Given the description of an element on the screen output the (x, y) to click on. 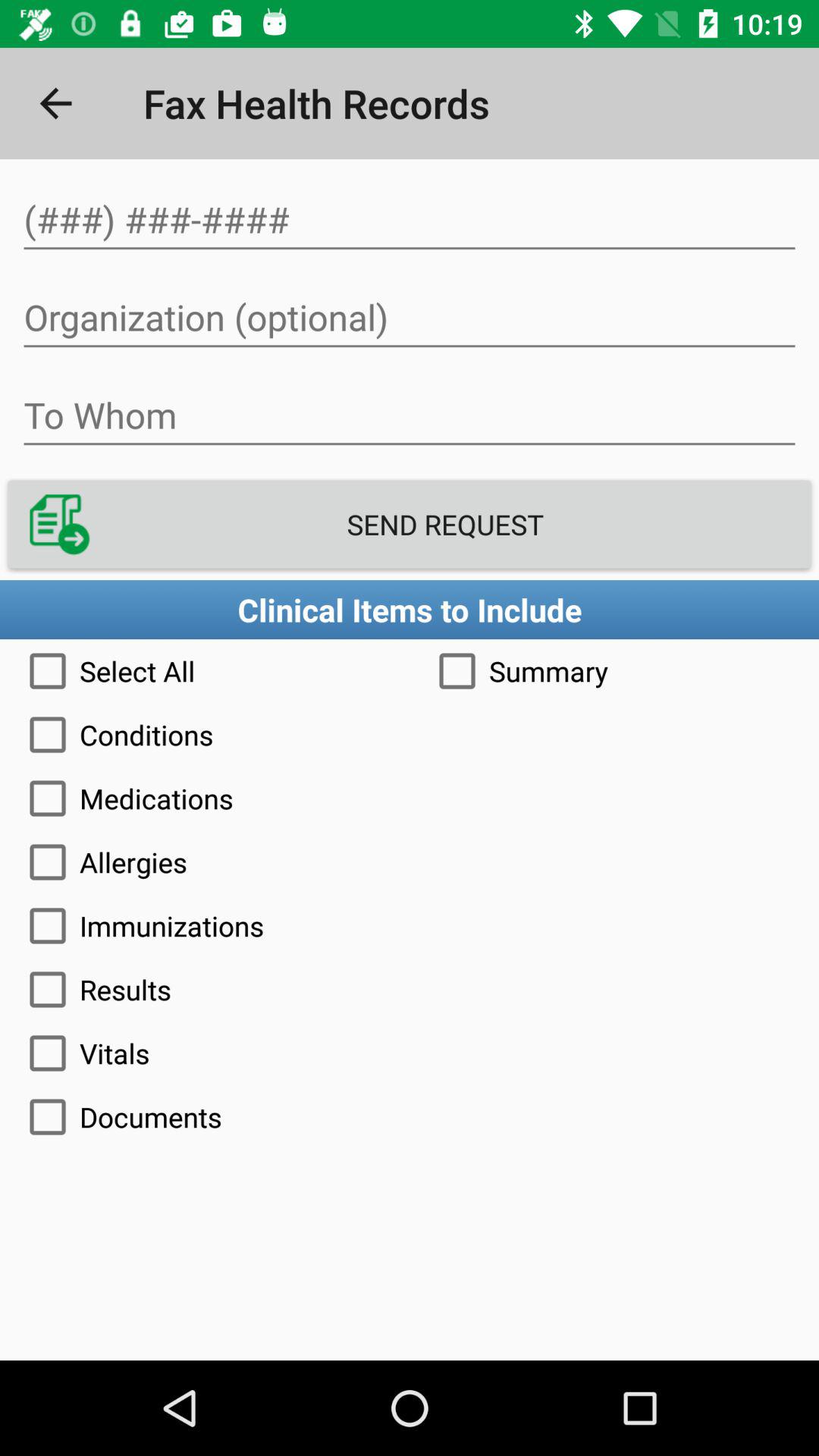
enter organization optional (409, 317)
